Given the description of an element on the screen output the (x, y) to click on. 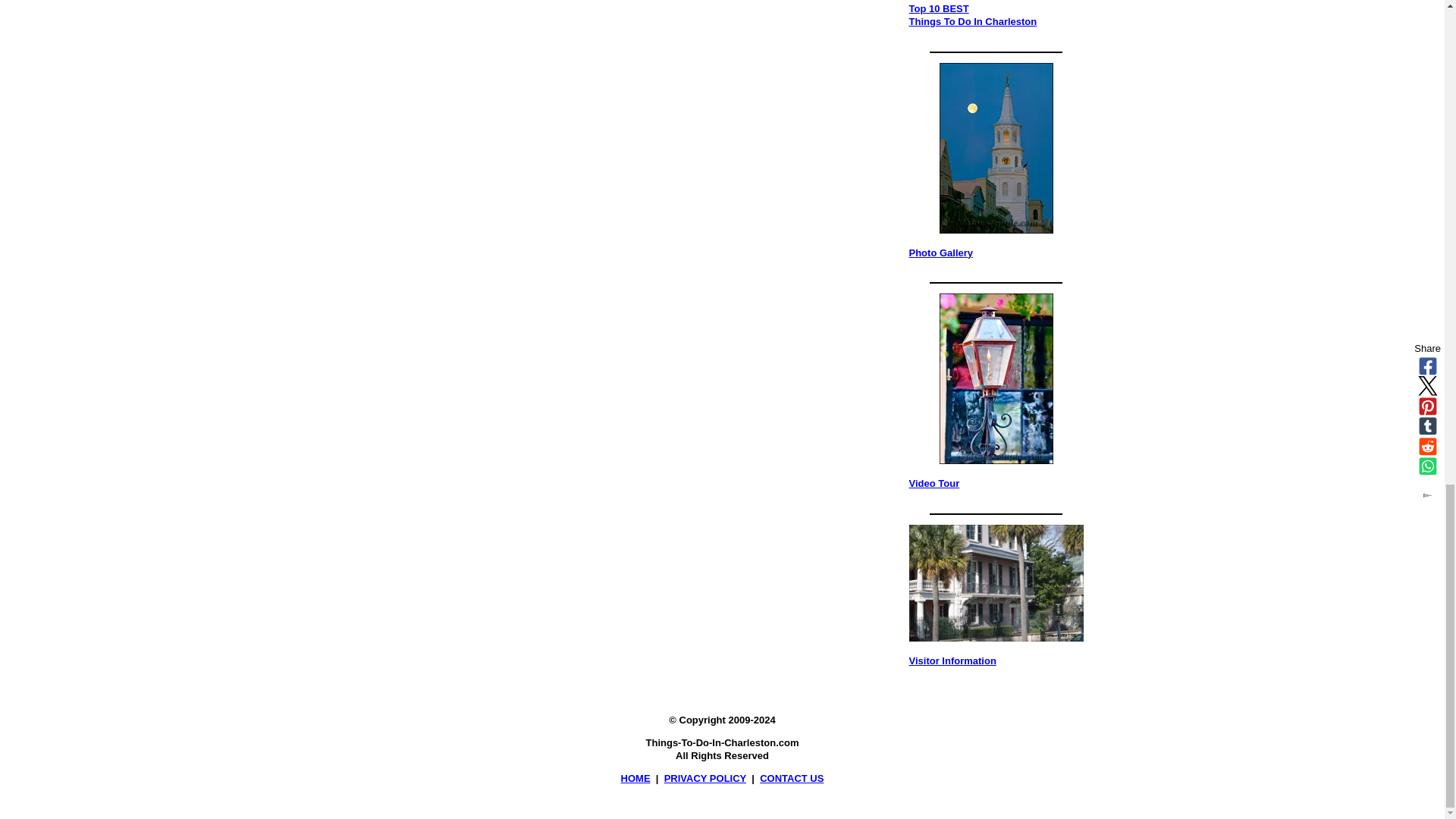
Charleston Visitor Information (995, 582)
